Given the description of an element on the screen output the (x, y) to click on. 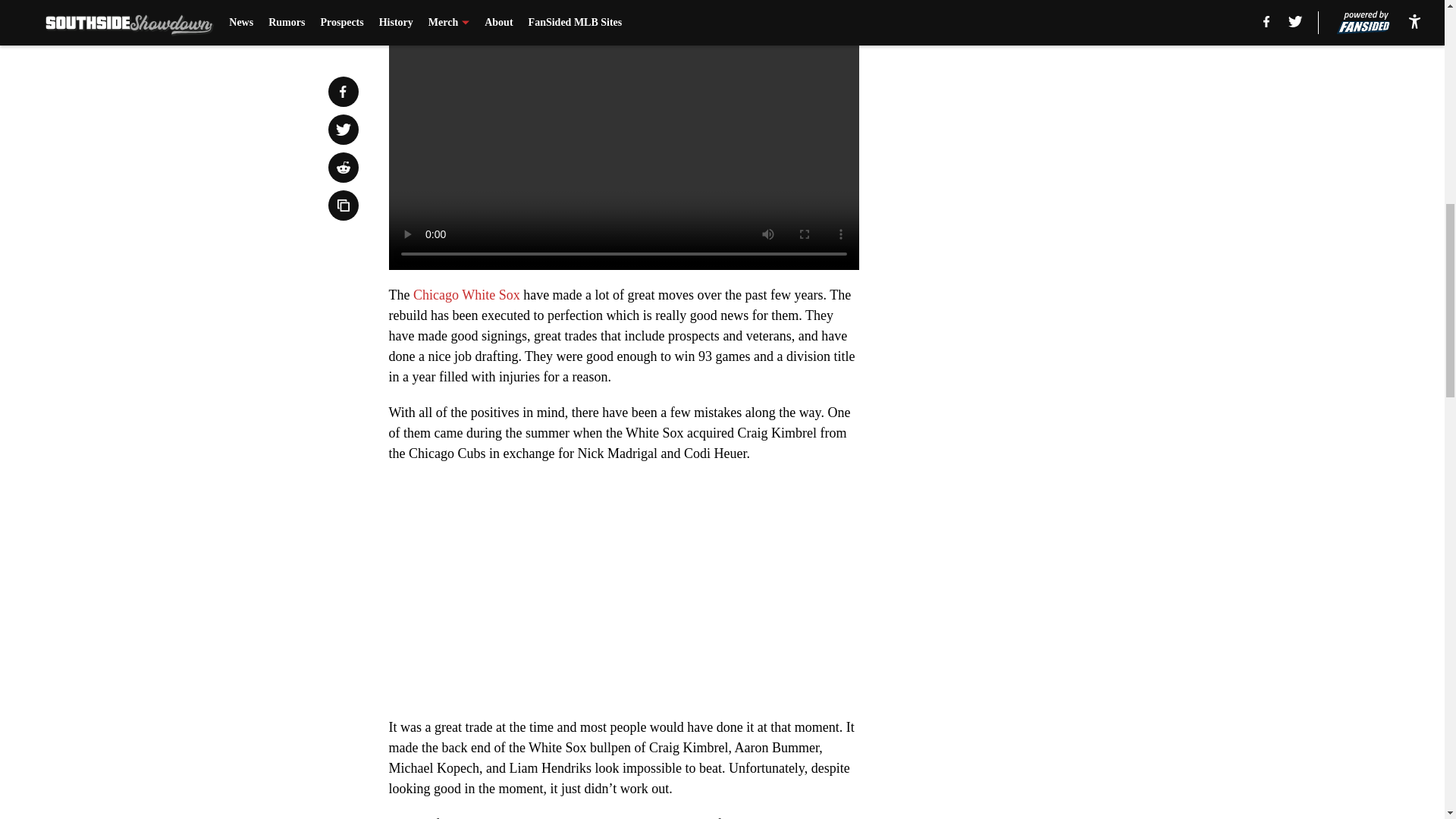
3rd party ad content (1047, 320)
3rd party ad content (1047, 100)
Chicago White Sox (466, 294)
